Given the description of an element on the screen output the (x, y) to click on. 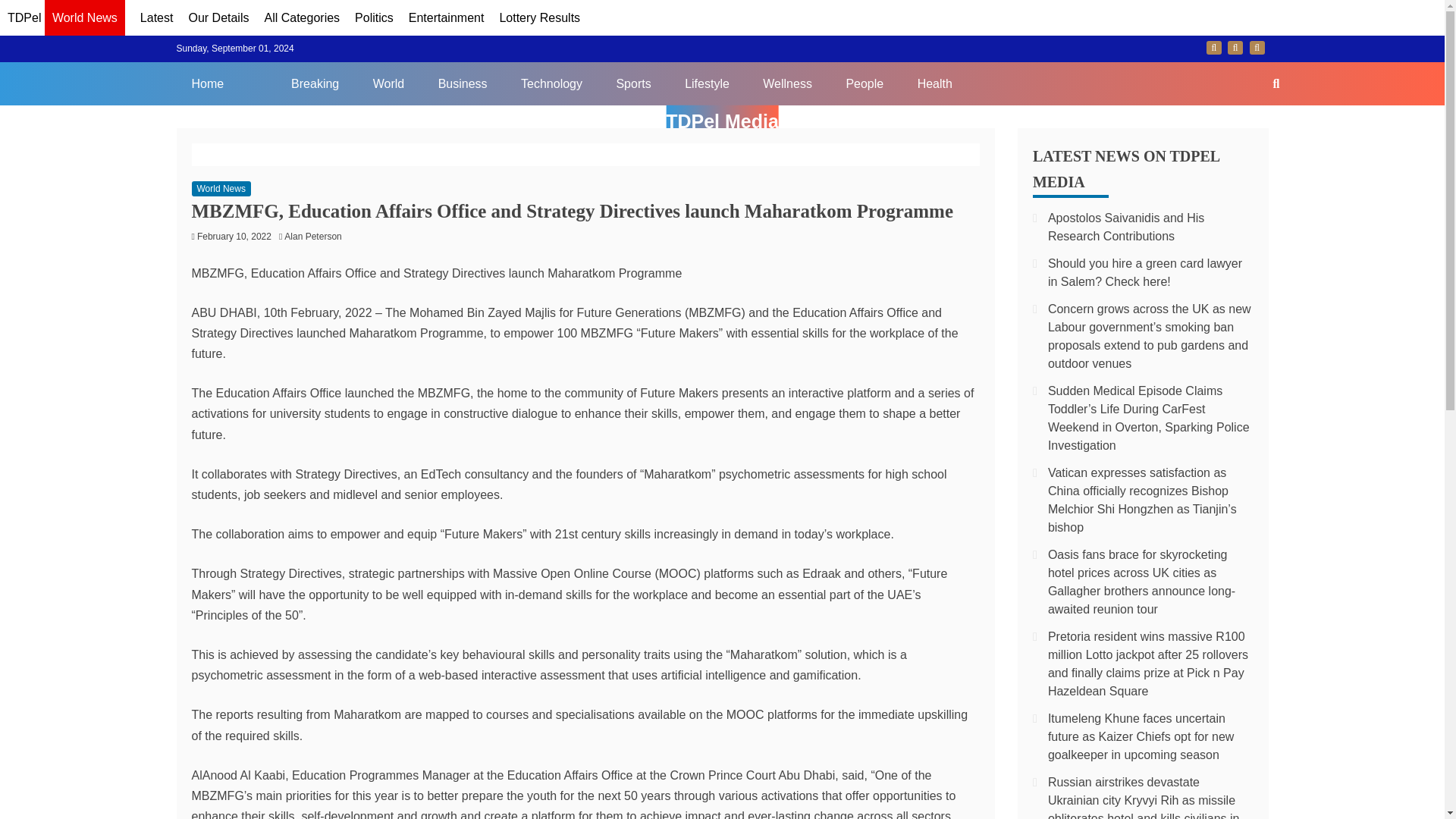
People (863, 83)
World (389, 83)
Entertainment (446, 17)
February 10, 2022 (233, 235)
Wellness (787, 83)
World News (220, 188)
Sports (632, 83)
Pinterest (1257, 47)
Technology (550, 83)
TDPel (23, 17)
